Given the description of an element on the screen output the (x, y) to click on. 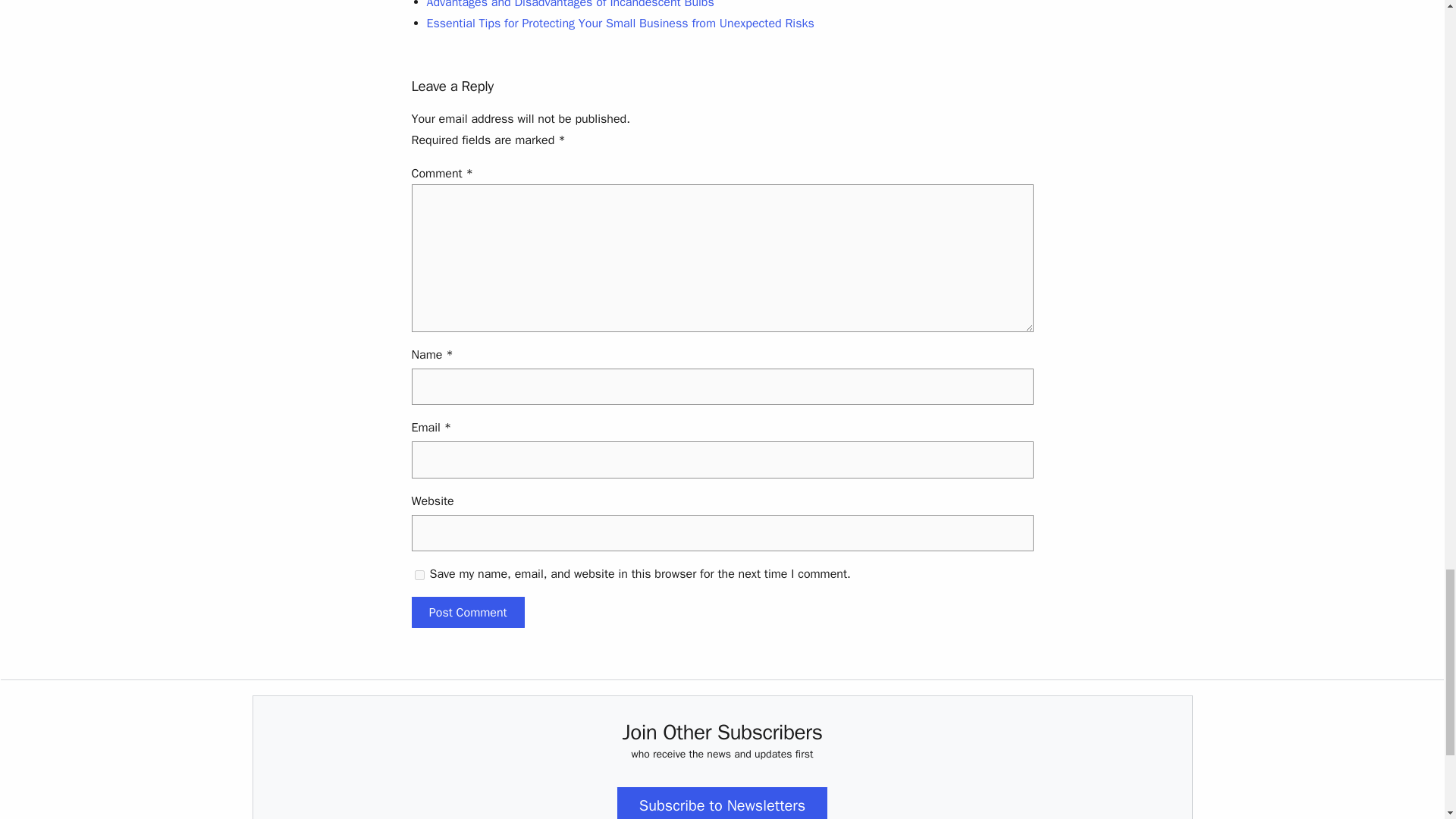
Advantages and Disadvantages of Incandescent Bulbs (569, 4)
Subscribe to Newsletters (722, 803)
Post Comment (467, 612)
Post Comment (467, 612)
